Given the description of an element on the screen output the (x, y) to click on. 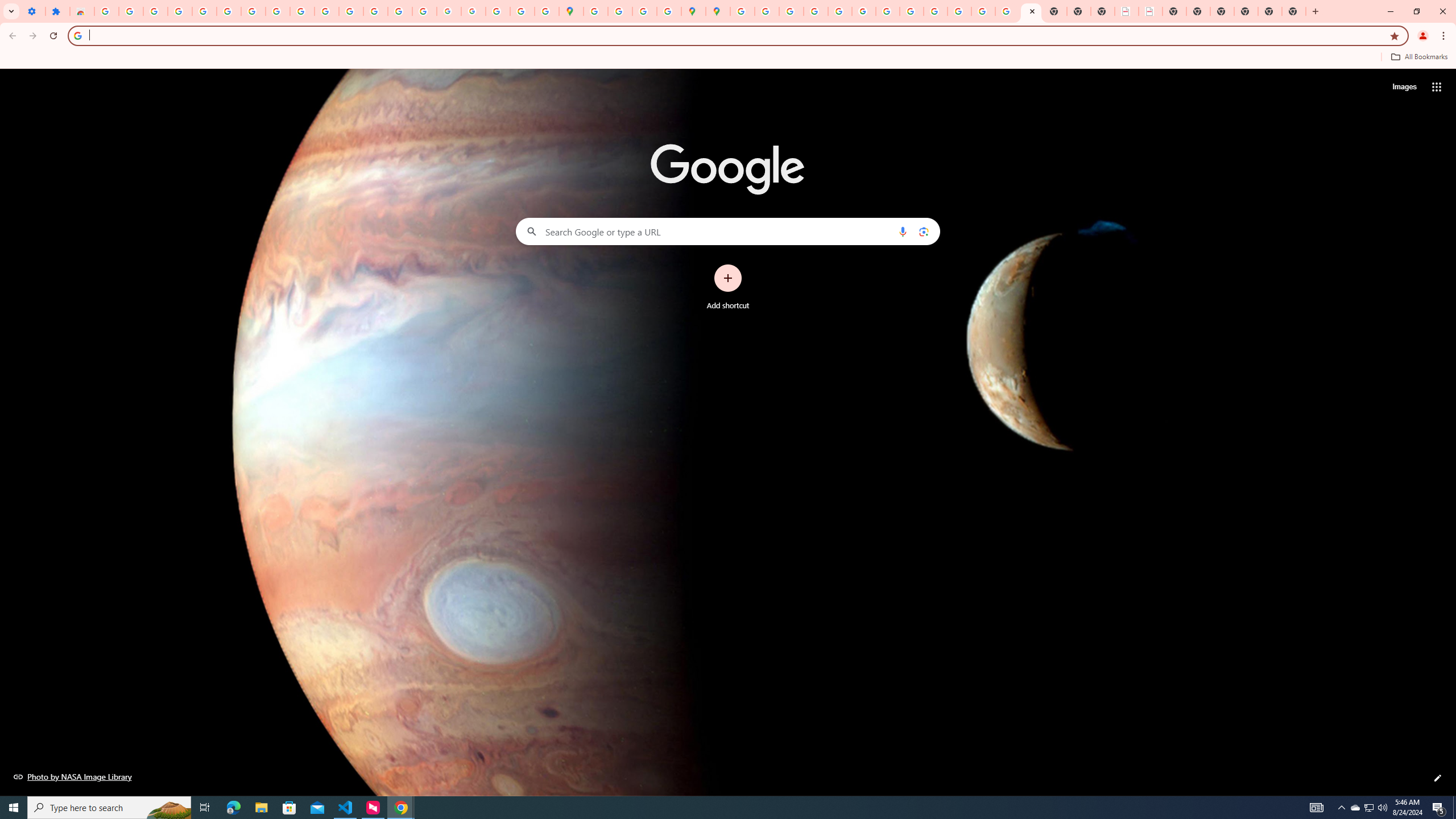
BAE Systems Brasil | BAE Systems (1150, 11)
Sign in - Google Accounts (228, 11)
Google Maps (570, 11)
